Given the description of an element on the screen output the (x, y) to click on. 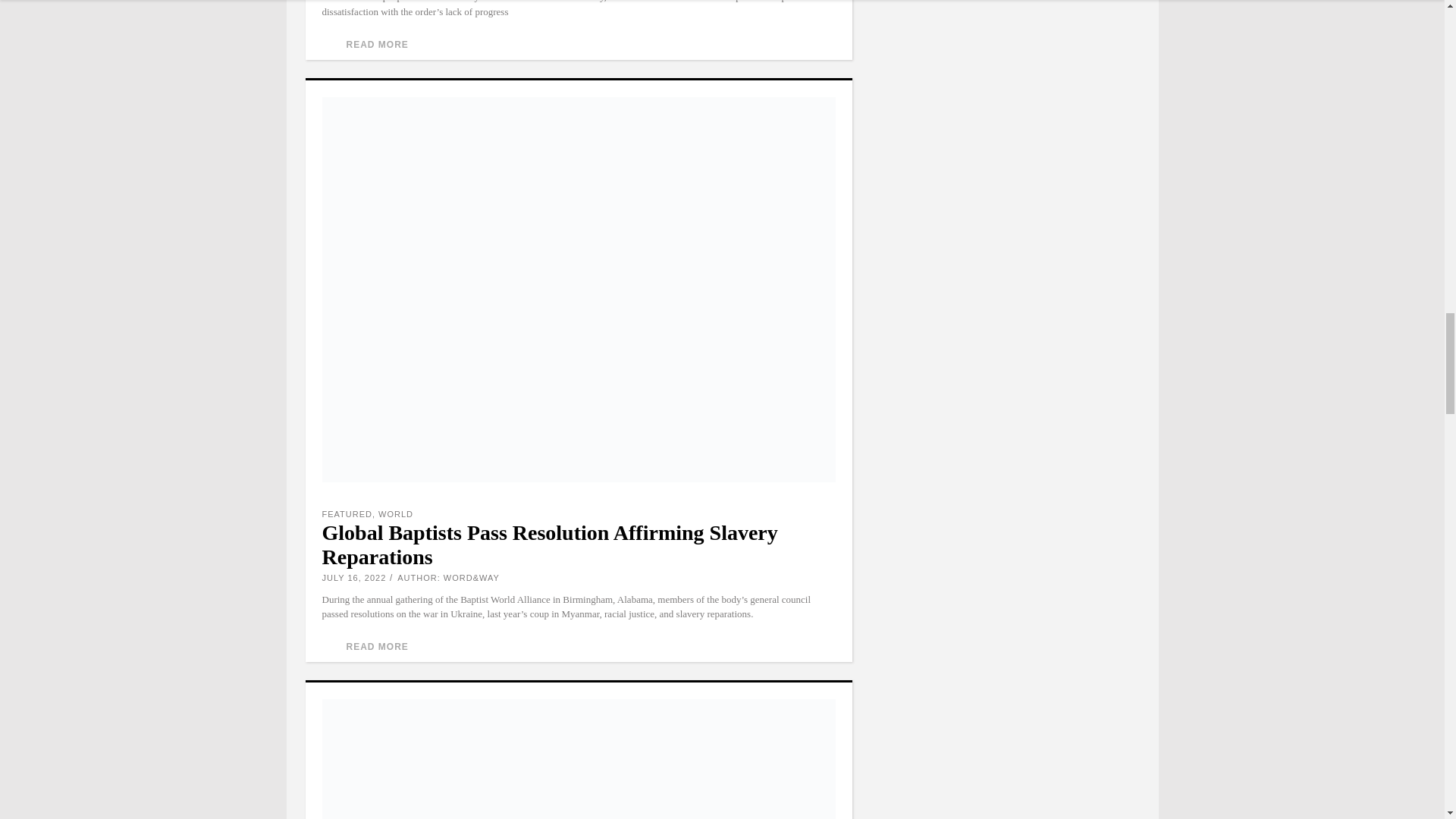
Lisa Sharon Harper on Fortune (577, 759)
